Given the description of an element on the screen output the (x, y) to click on. 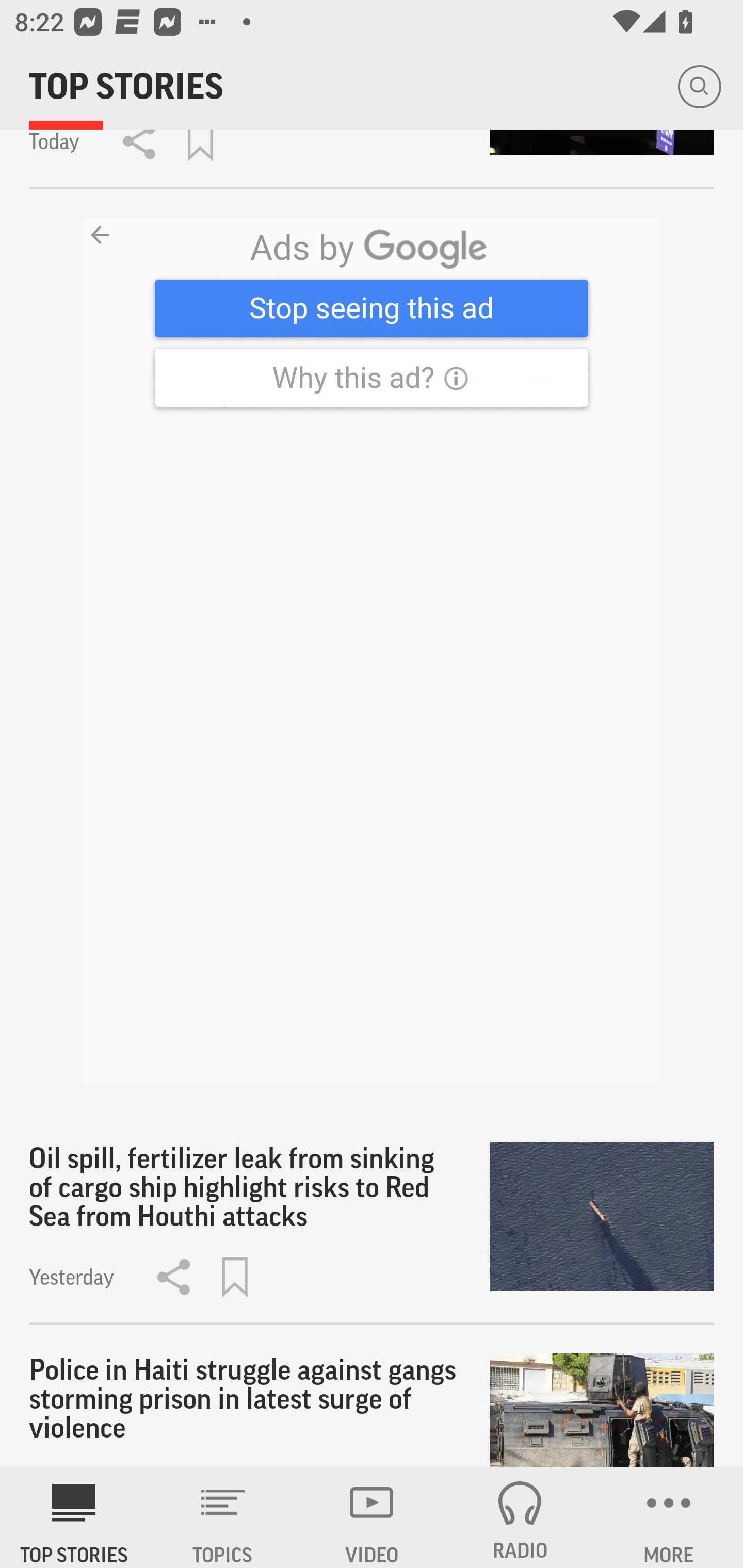
AP News TOP STORIES (74, 1517)
TOPICS (222, 1517)
VIDEO (371, 1517)
RADIO (519, 1517)
MORE (668, 1517)
